Given the description of an element on the screen output the (x, y) to click on. 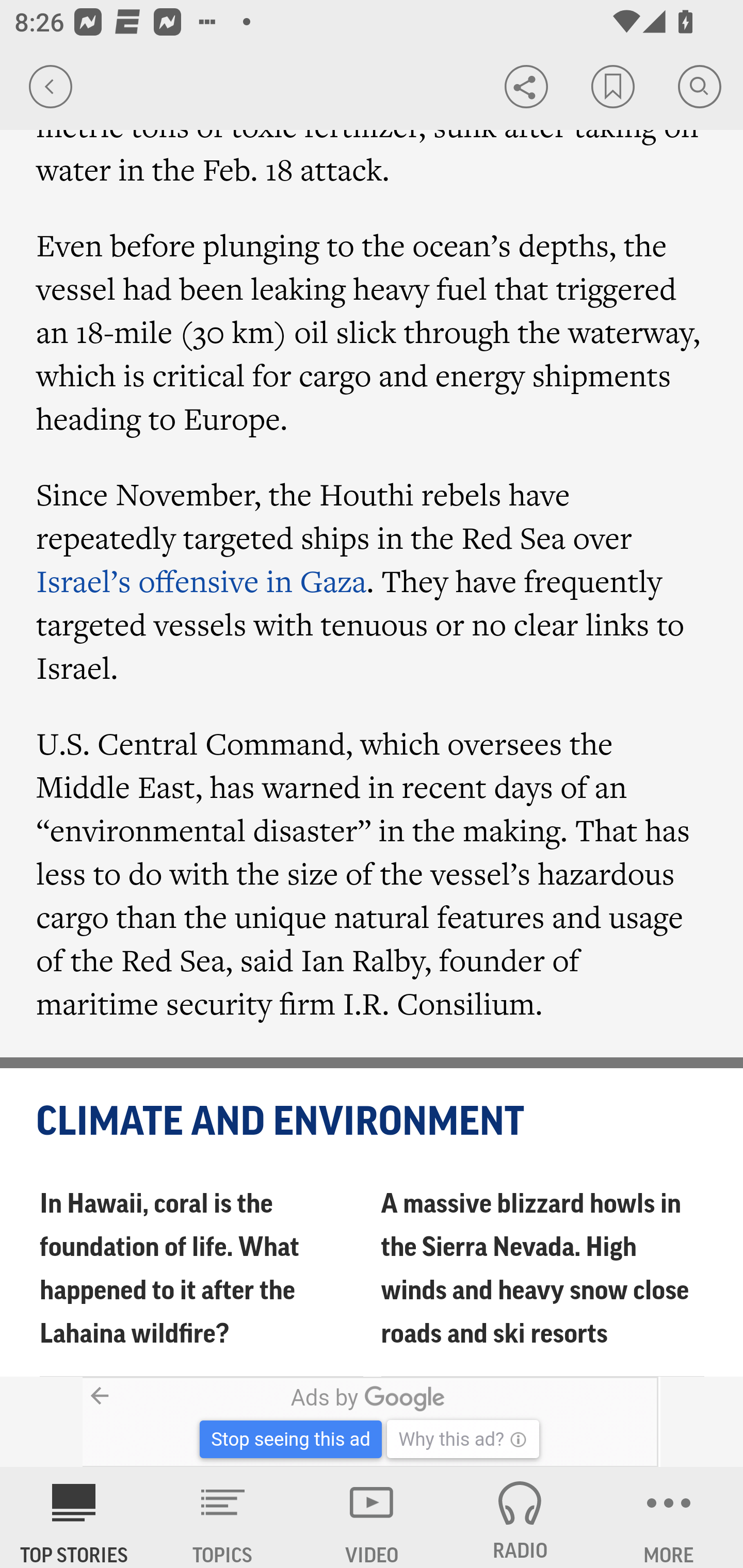
Israel’s offensive in Gaza (202, 580)
CLIMATE AND ENVIRONMENT (372, 1122)
AP News TOP STORIES (74, 1517)
TOPICS (222, 1517)
VIDEO (371, 1517)
RADIO (519, 1517)
MORE (668, 1517)
